Given the description of an element on the screen output the (x, y) to click on. 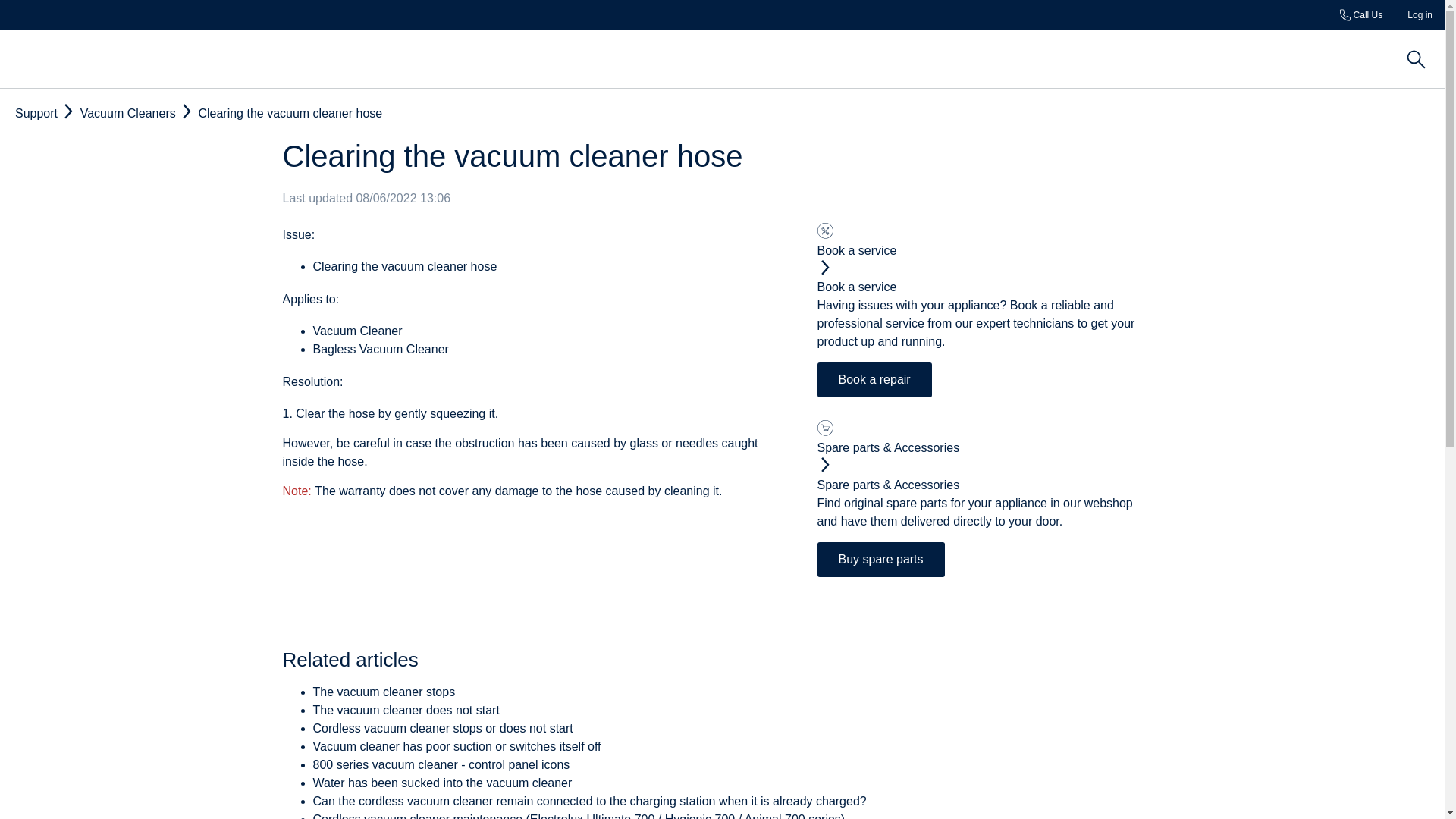
Call Us (1360, 15)
